Given the description of an element on the screen output the (x, y) to click on. 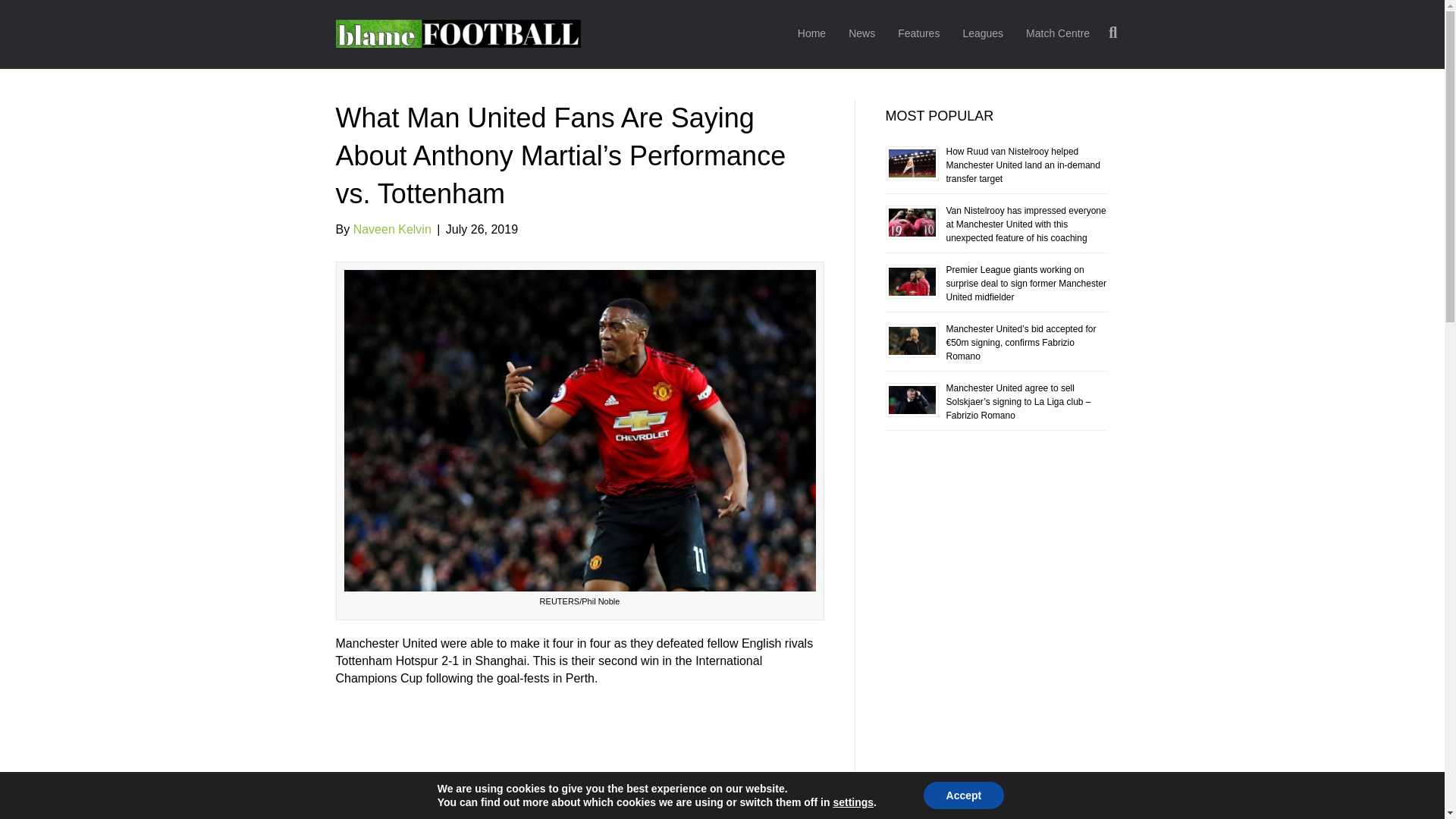
Features (918, 34)
News (861, 34)
Match Centre (1057, 34)
Leagues (982, 34)
Home (811, 34)
Advertisement (579, 756)
